Given the description of an element on the screen output the (x, y) to click on. 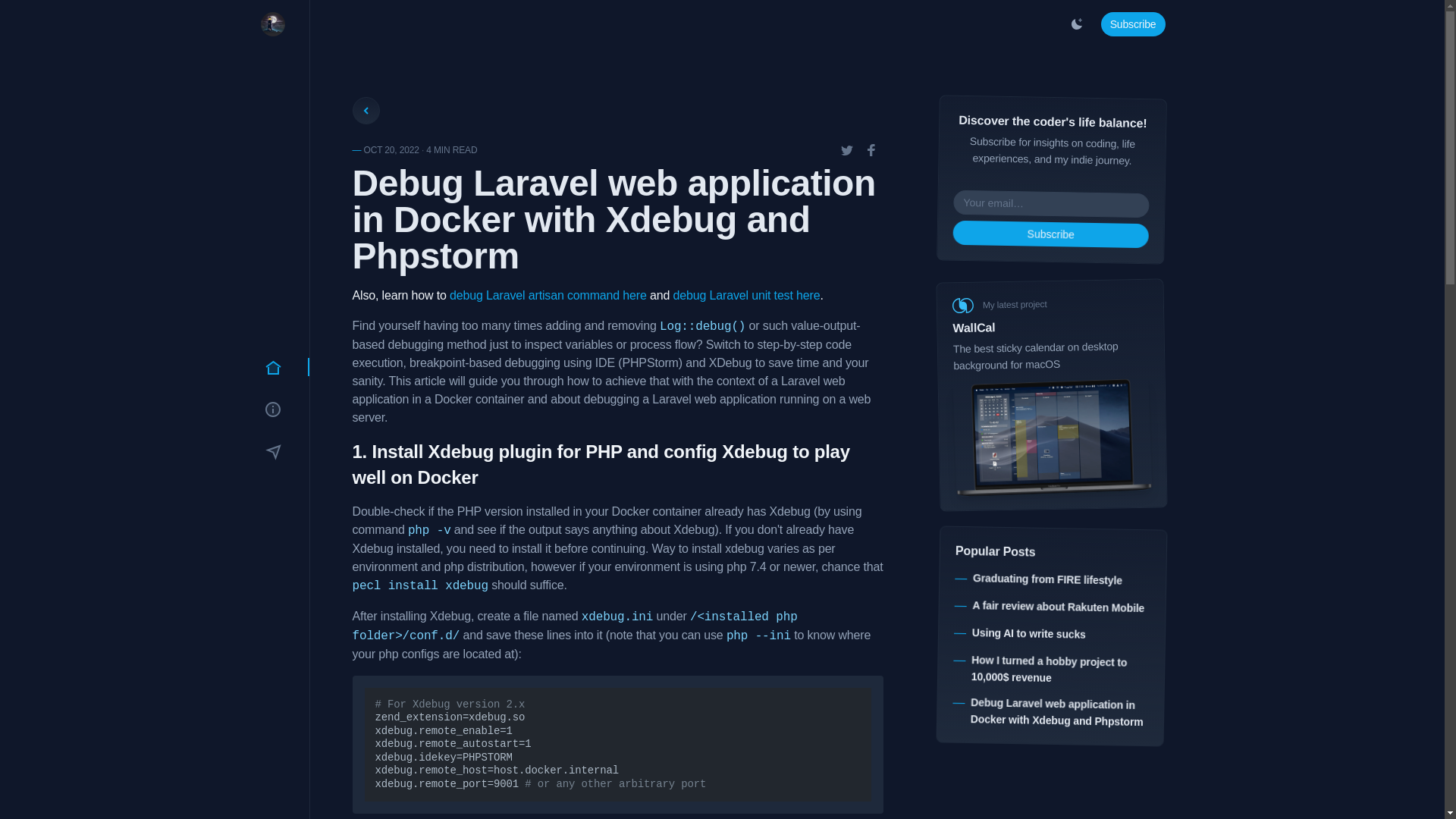
Home (271, 366)
Using AI to write sucks (1027, 633)
debug Laravel unit test here (746, 295)
Graduating from FIRE lifestyle (1046, 578)
debug Laravel artisan command here (547, 295)
About (271, 409)
Subscribe (271, 452)
A fair review about Rakuten Mobile (1058, 606)
Back (365, 110)
Subscribe (1133, 24)
Subscribe (1050, 232)
